Given the description of an element on the screen output the (x, y) to click on. 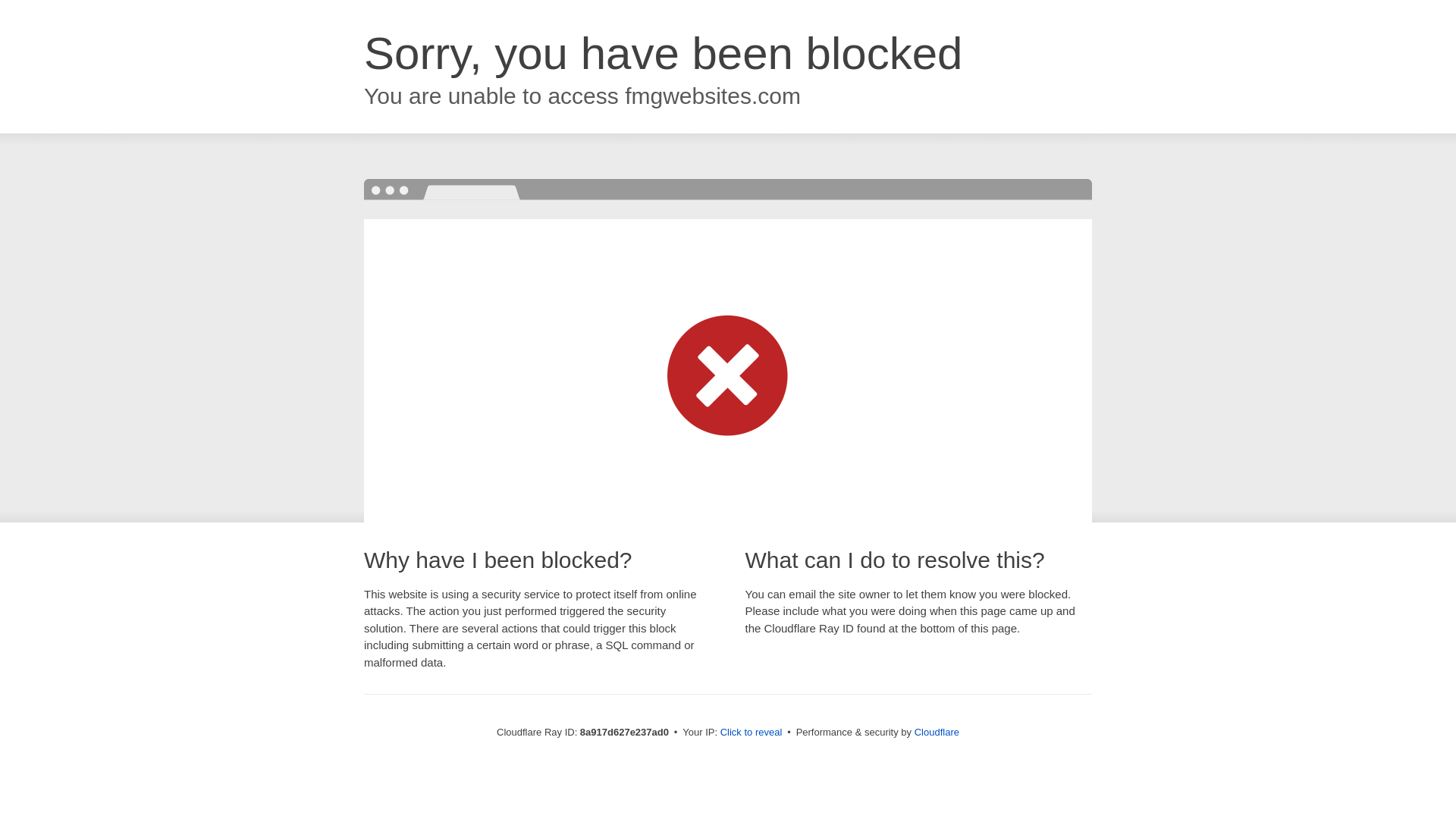
Click to reveal (751, 732)
Cloudflare (936, 731)
